Given the description of an element on the screen output the (x, y) to click on. 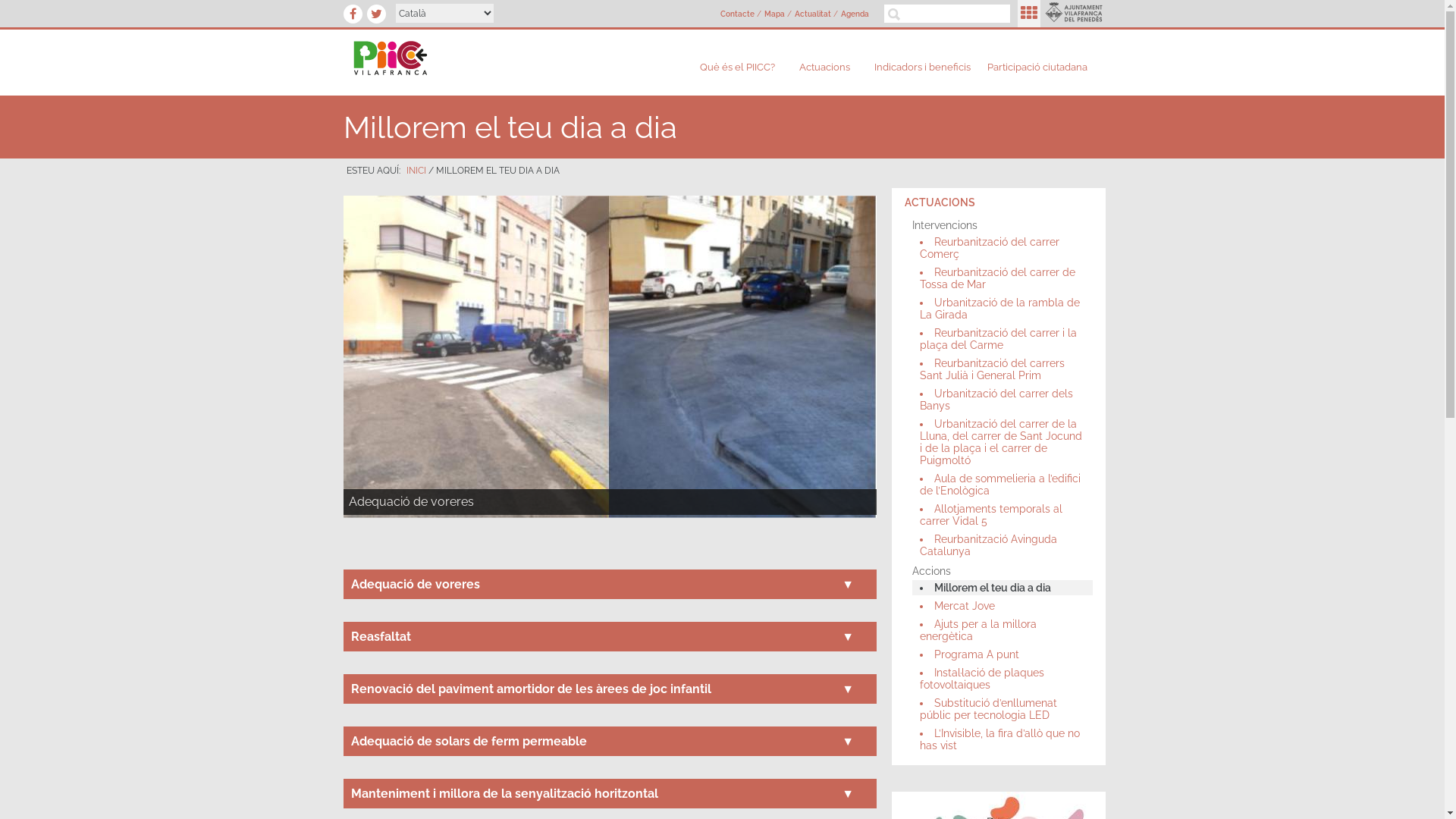
Allotjaments temporals al carrer Vidal 5 Element type: text (1002, 514)
Mercat Jove Element type: text (1002, 605)
Actuacions Element type: text (828, 66)
Programa A punt Element type: text (1002, 654)
Contacte Element type: text (737, 14)
Accions Element type: text (998, 570)
Inici Element type: hover (492, 60)
INICI Element type: text (416, 170)
millorem_voreres.jpg Element type: text (434, 221)
ACTUACIONS Element type: text (998, 202)
Intervencions Element type: text (998, 224)
Actualitat Element type: text (812, 14)
Indicadors i beneficis Element type: text (922, 66)
Millorem el teu dia a dia Element type: text (1002, 587)
Mapa Element type: text (774, 14)
Agenda Element type: text (854, 14)
